Given the description of an element on the screen output the (x, y) to click on. 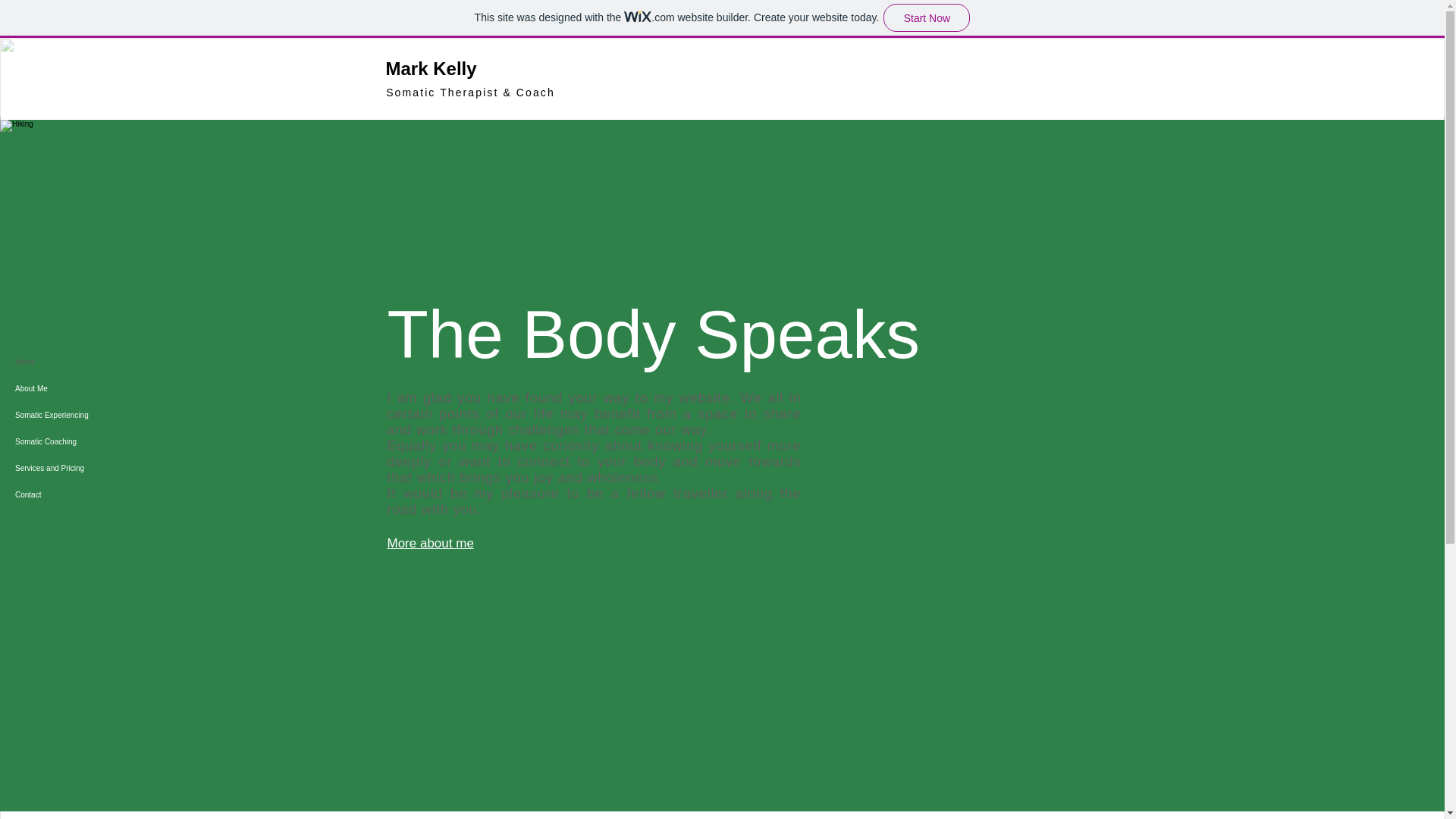
Somatic Experiencing (79, 415)
Mark Kelly (430, 68)
Home (79, 361)
Contact (79, 494)
Somatic Coaching (79, 441)
More about me (430, 543)
About Me (79, 388)
Services and Pricing (79, 468)
